Given the description of an element on the screen output the (x, y) to click on. 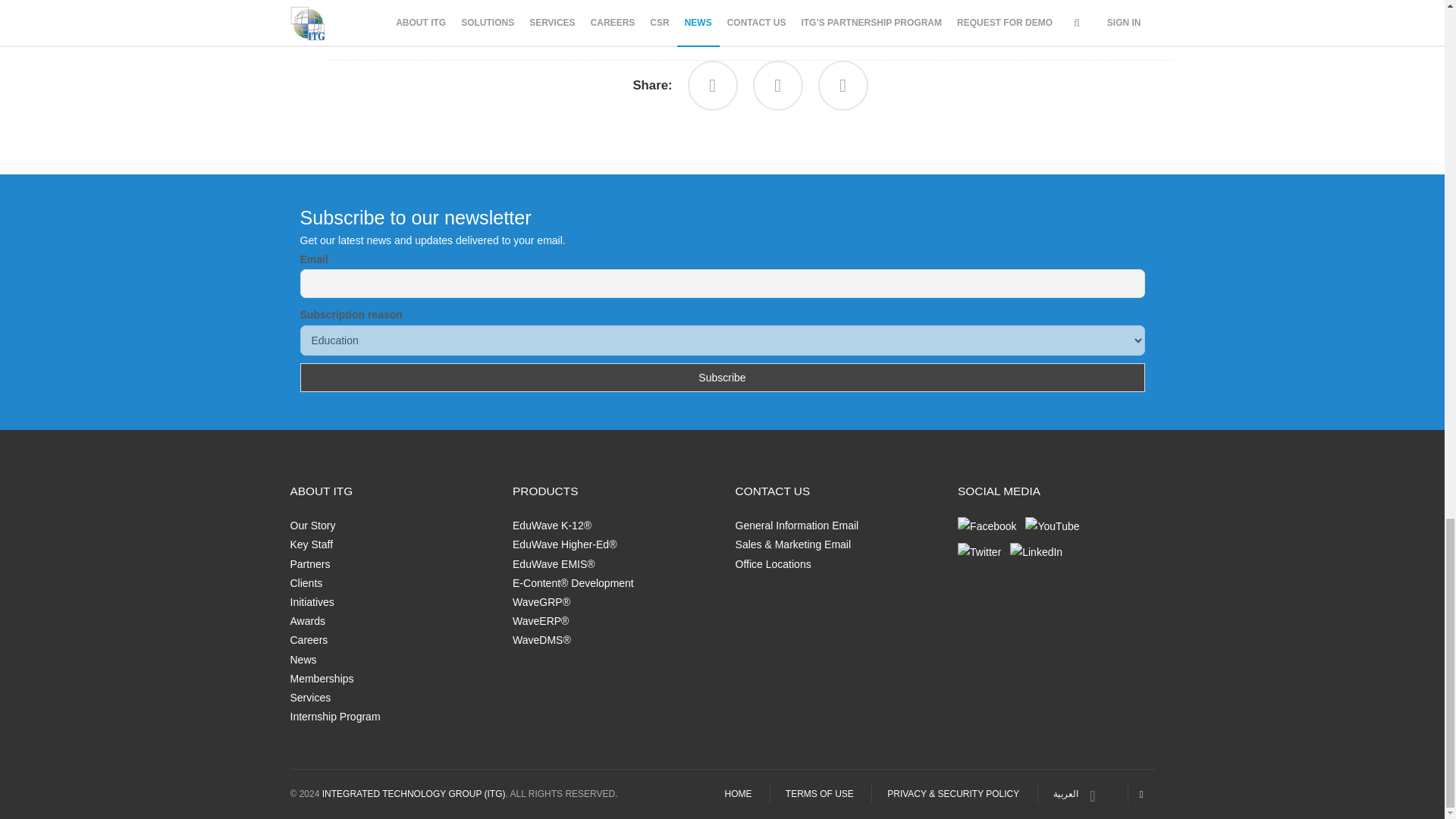
Subscribe (721, 377)
Twitter (842, 85)
Facebook (712, 85)
admin (350, 11)
